Given the description of an element on the screen output the (x, y) to click on. 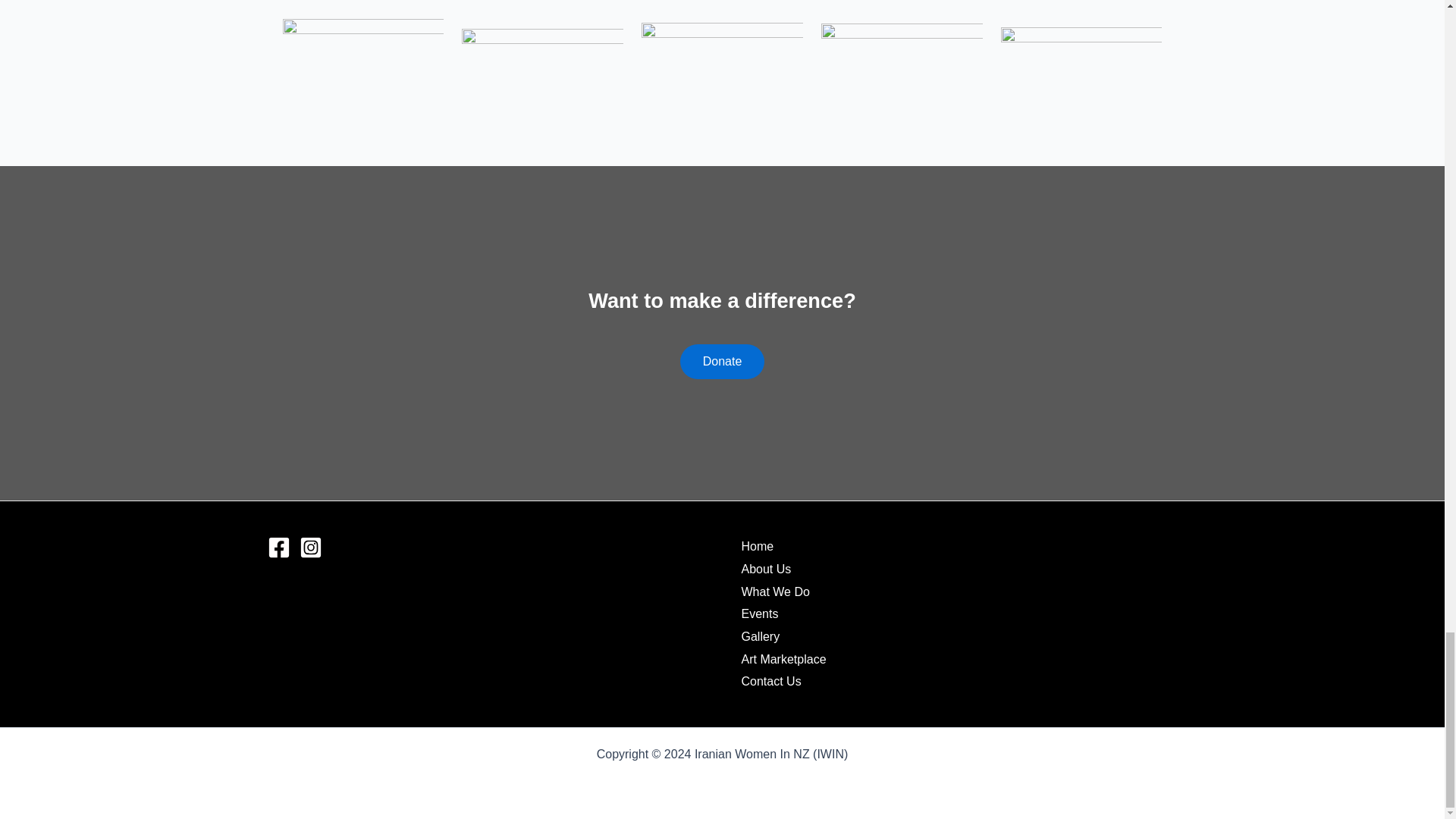
Contact Us (771, 681)
About Us (766, 568)
What We Do (775, 591)
Home (757, 546)
Donate (722, 361)
Art Marketplace (784, 659)
Gallery (760, 636)
Events (759, 613)
